Given the description of an element on the screen output the (x, y) to click on. 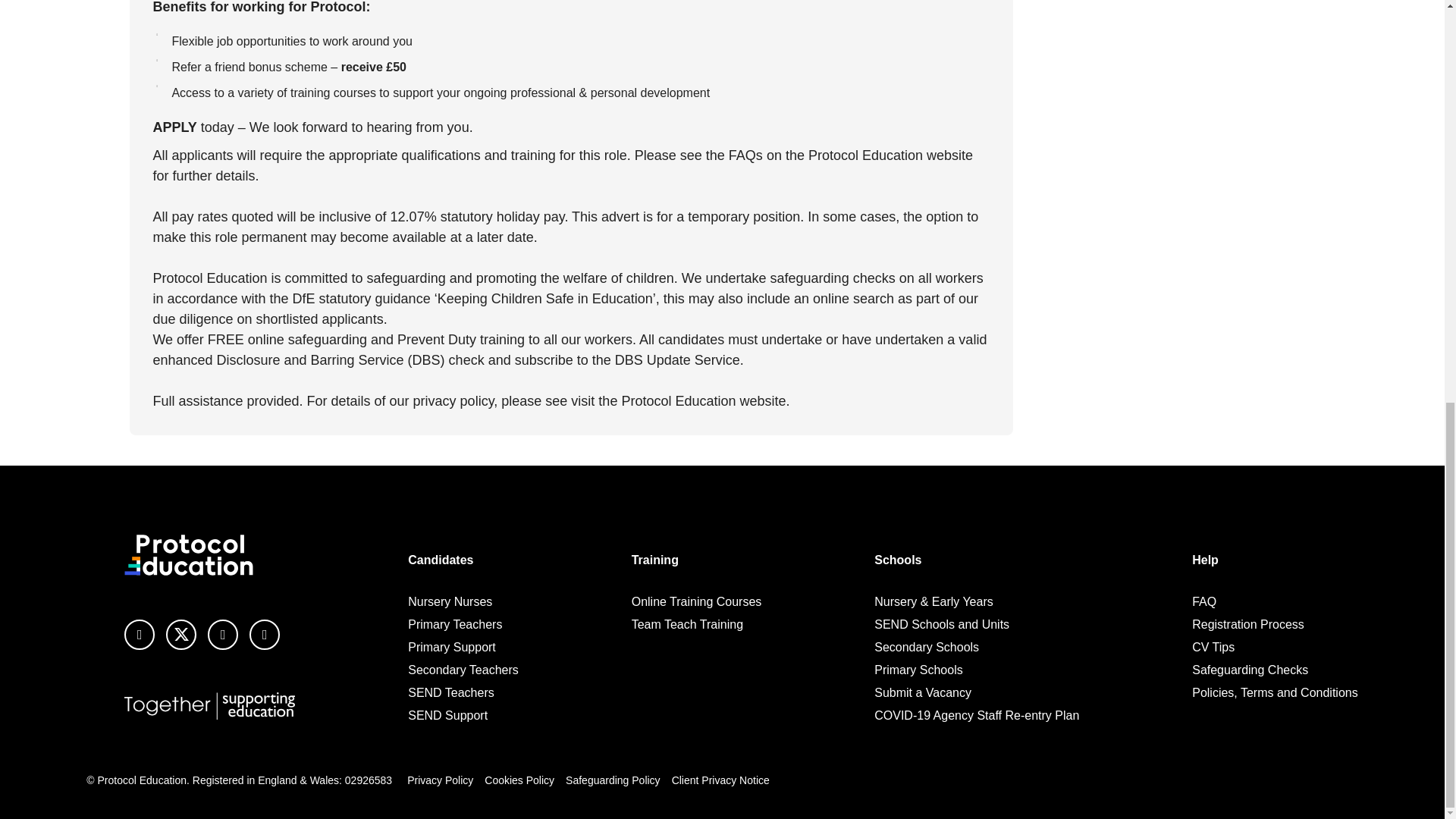
Go to the Homepage (188, 554)
